Given the description of an element on the screen output the (x, y) to click on. 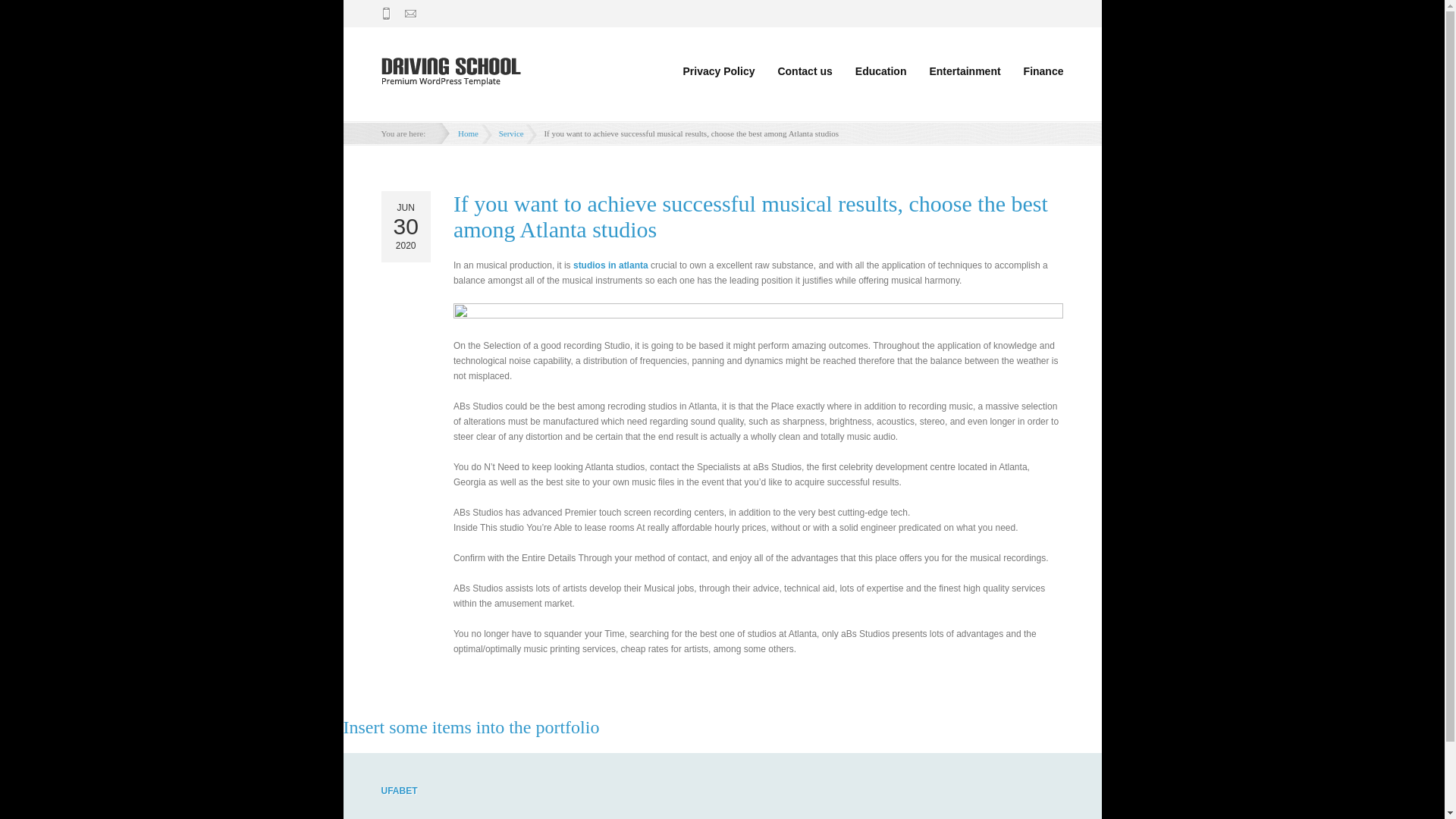
Finance (1037, 71)
Entertainment (964, 71)
Contact us (804, 71)
Education (881, 71)
Home (467, 133)
Privacy Policy (719, 71)
UFABET (398, 790)
studios in atlanta (610, 265)
